Given the description of an element on the screen output the (x, y) to click on. 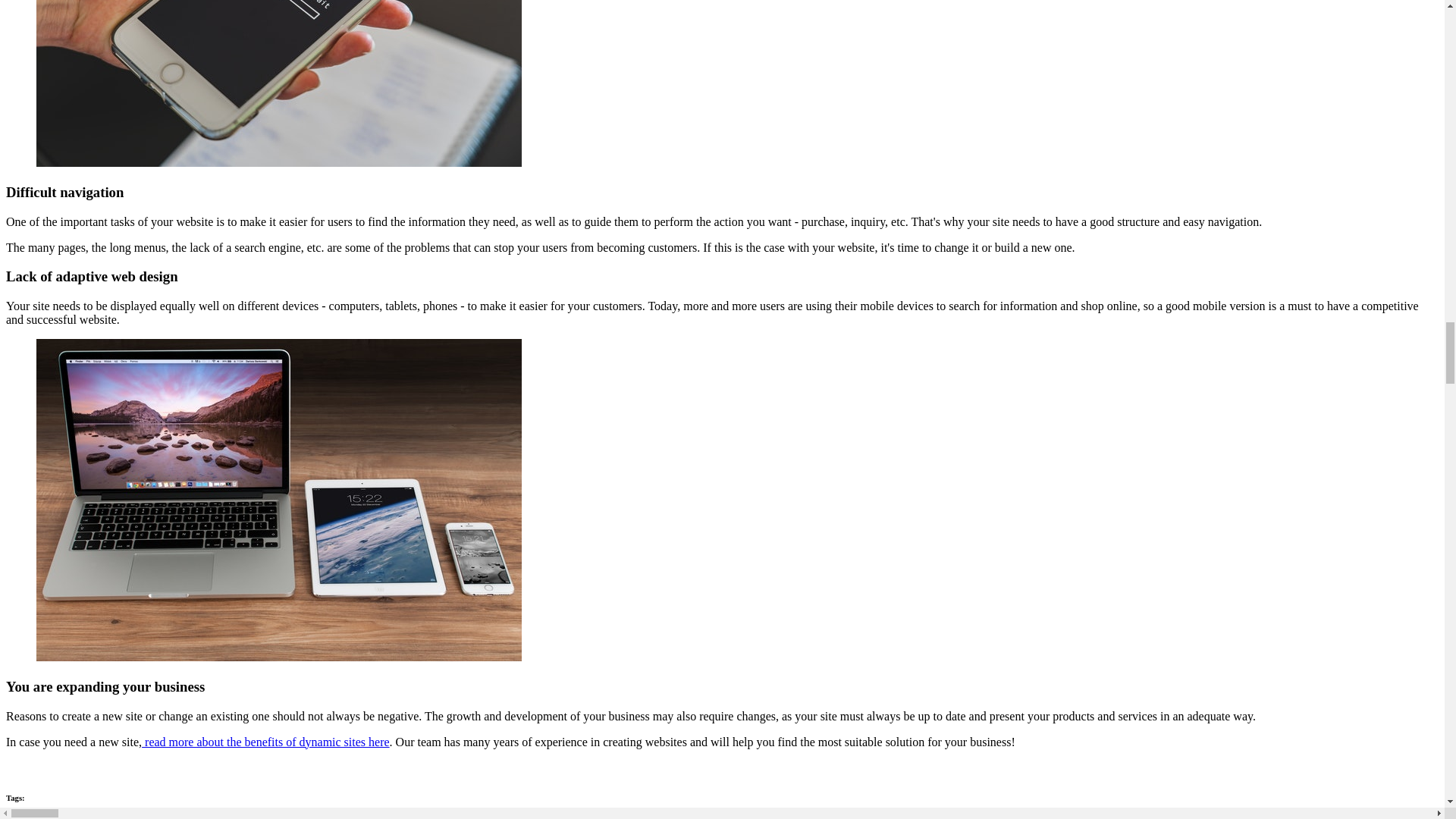
read more about the benefits of dynamic sites here (265, 741)
